Given the description of an element on the screen output the (x, y) to click on. 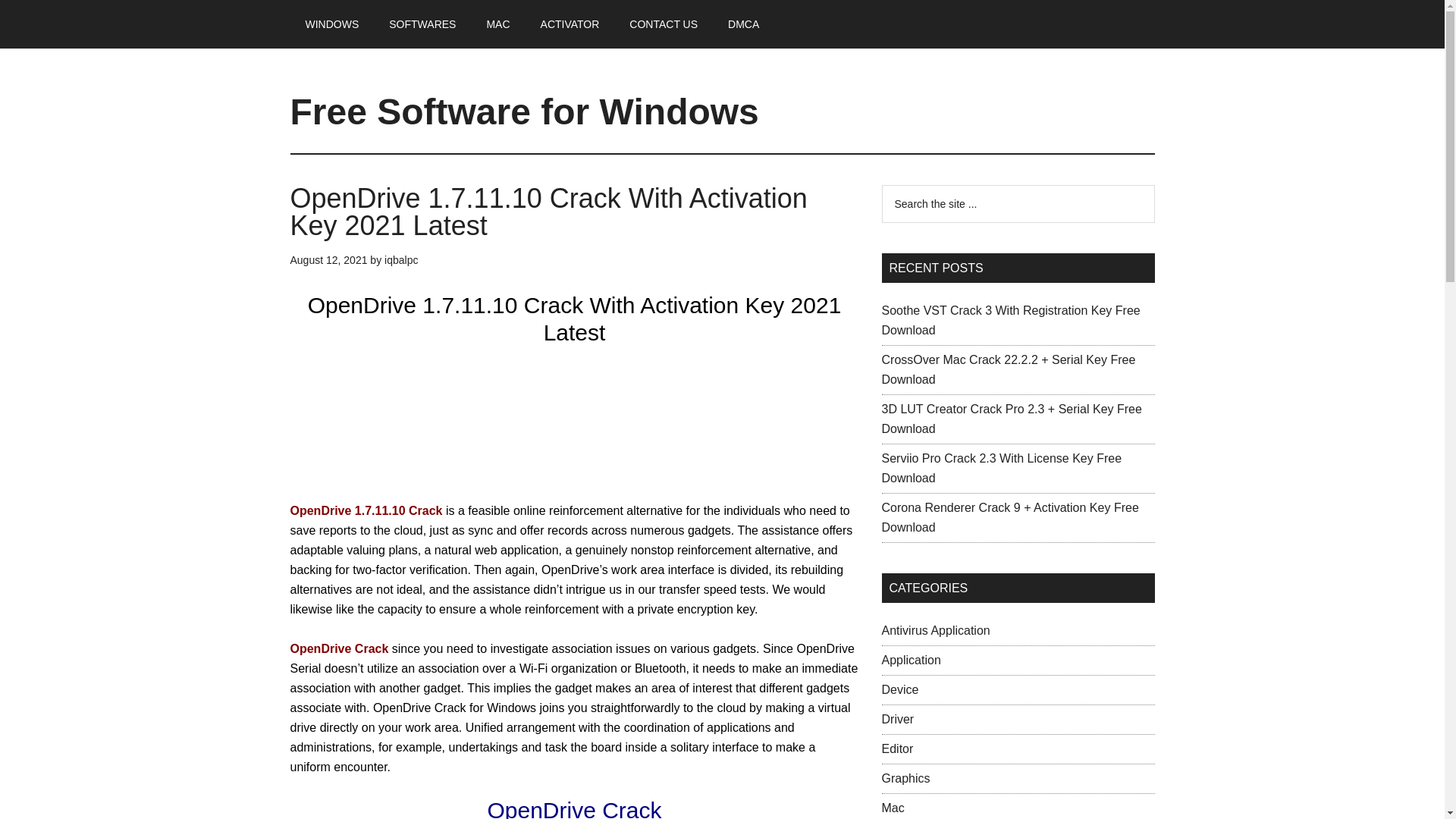
Application (910, 659)
Mac (892, 807)
WINDOWS (331, 24)
CONTACT US (663, 24)
Graphics (905, 778)
Antivirus Application (935, 630)
Driver (897, 718)
DMCA (743, 24)
Device (899, 689)
Serviio Pro Crack 2.3 With License Key Free Download (1000, 468)
Soothe VST Crack 3 With Registration Key Free Download (1010, 319)
Editor (896, 748)
MAC (497, 24)
iqbalpc (400, 259)
